Given the description of an element on the screen output the (x, y) to click on. 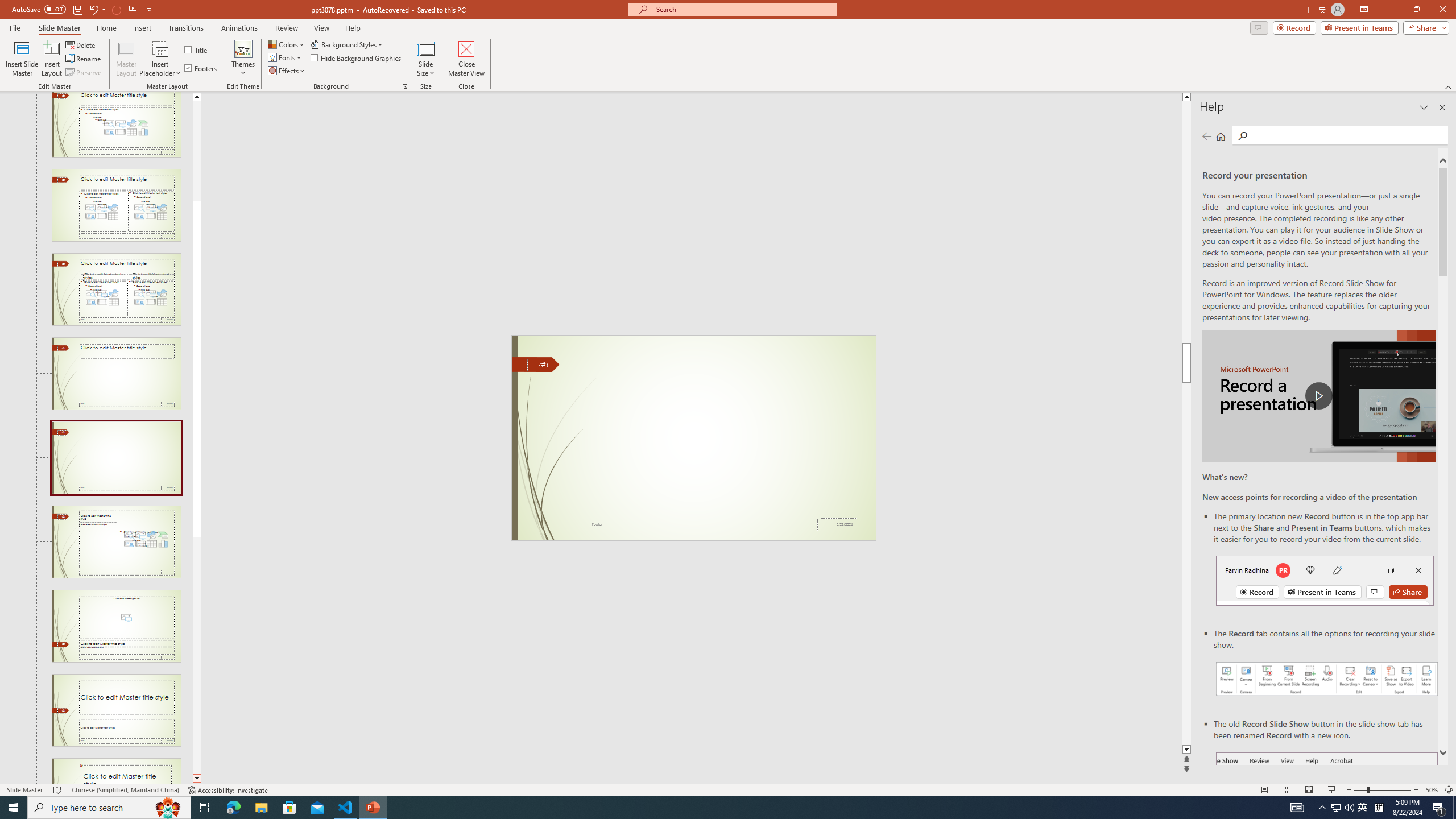
Present in Teams (1359, 27)
Home (106, 28)
Slide Blank Layout: used by no slides (116, 457)
Footer (703, 524)
Class: MsoCommandBar (728, 789)
From Beginning (133, 9)
Ribbon Display Options (1364, 9)
Zoom In (1415, 790)
Transitions (186, 28)
Slide Number (539, 364)
Zoom (1382, 790)
Undo (92, 9)
Slide Show (1331, 790)
Fonts (285, 56)
